Given the description of an element on the screen output the (x, y) to click on. 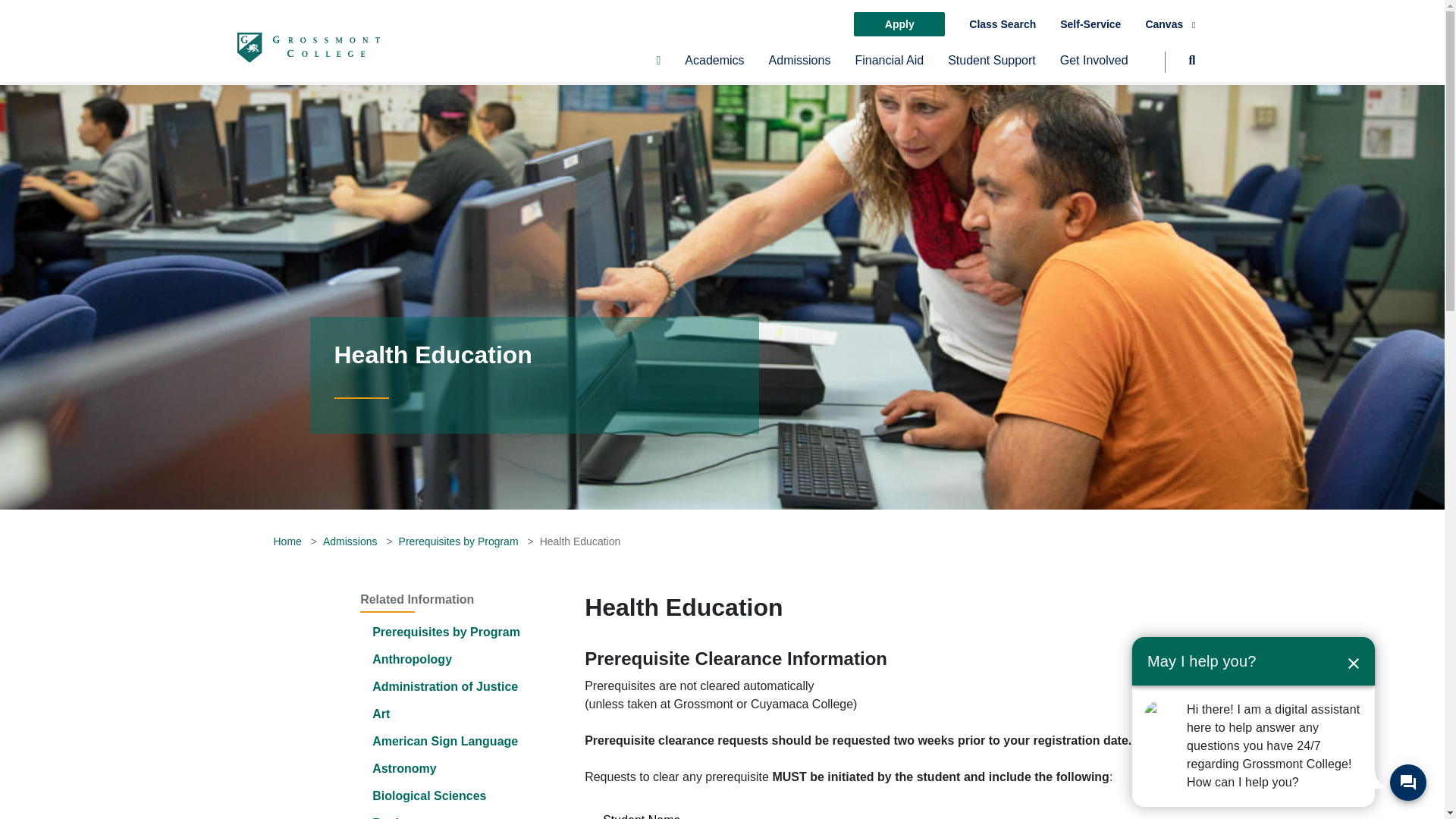
Admissions (799, 66)
Get Involved (1093, 66)
Class Search (1002, 23)
grossmont.edu (306, 47)
Get Involved (1093, 66)
Apply (898, 24)
Art (381, 713)
Self-Service (1090, 23)
Financial Aid (888, 66)
Self-Service (1090, 23)
Financial Aid (888, 66)
Search Button (1179, 66)
Anthropology (411, 658)
Academics (714, 66)
Canvas (1169, 23)
